Given the description of an element on the screen output the (x, y) to click on. 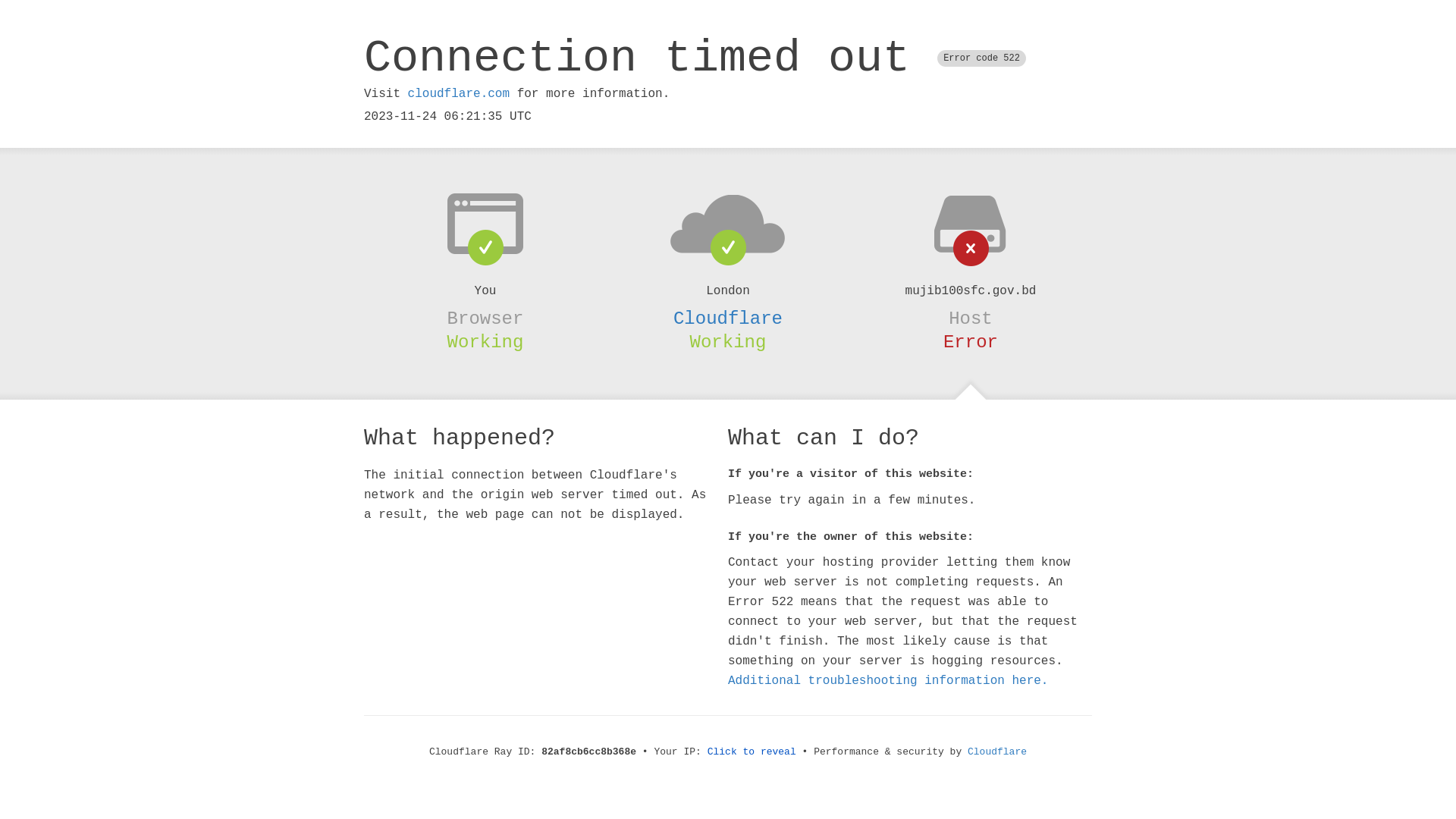
Click to reveal Element type: text (751, 751)
cloudflare.com Element type: text (458, 93)
Additional troubleshooting information here. Element type: text (888, 680)
Cloudflare Element type: text (996, 751)
Cloudflare Element type: text (727, 318)
